Given the description of an element on the screen output the (x, y) to click on. 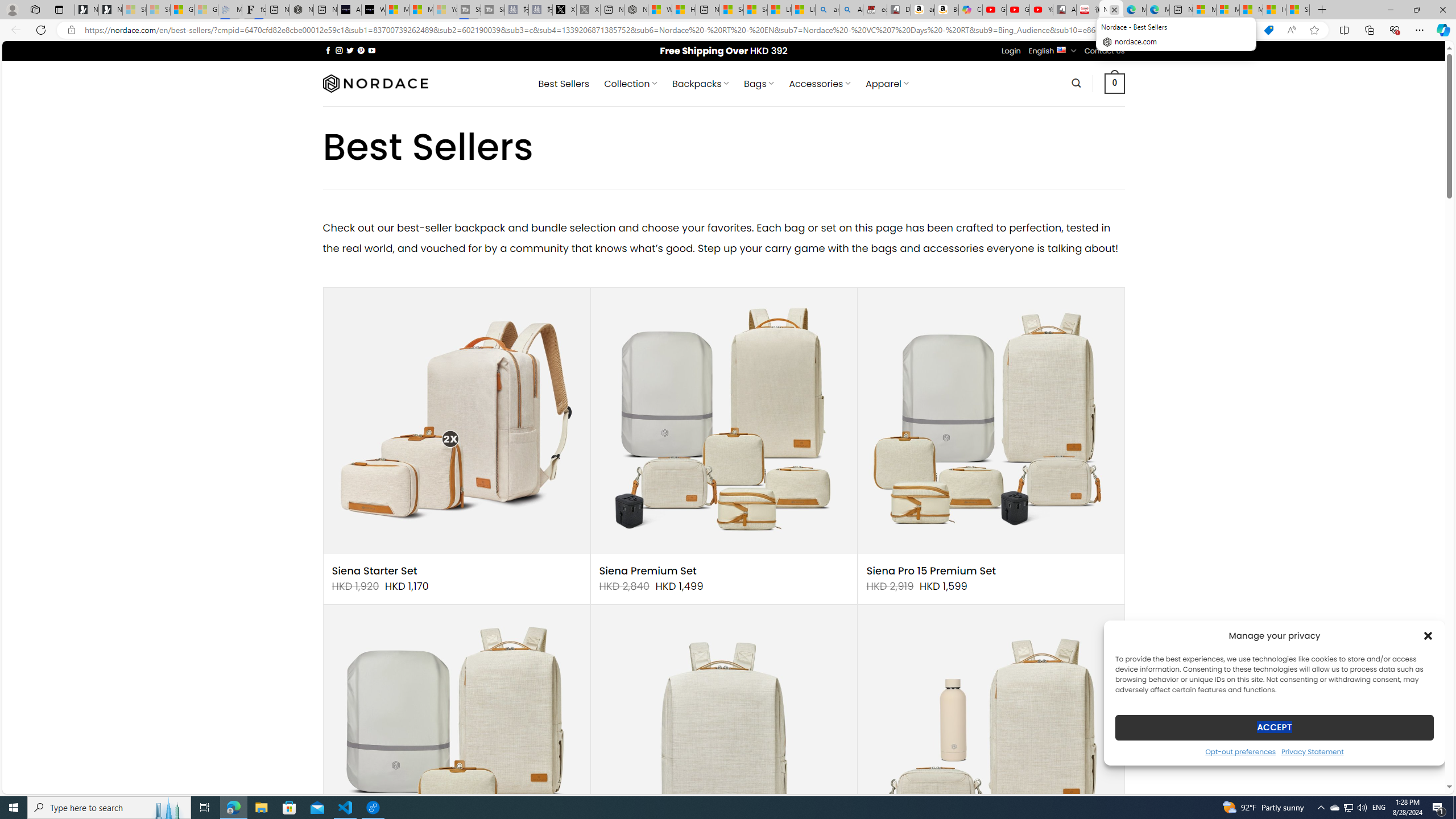
Close (1442, 9)
New tab (1181, 9)
  0   (1115, 83)
Follow on Facebook (327, 49)
App bar (728, 29)
Back (13, 29)
What's the best AI voice generator? - voice.ai (373, 9)
X (563, 9)
Refresh (40, 29)
